Given the description of an element on the screen output the (x, y) to click on. 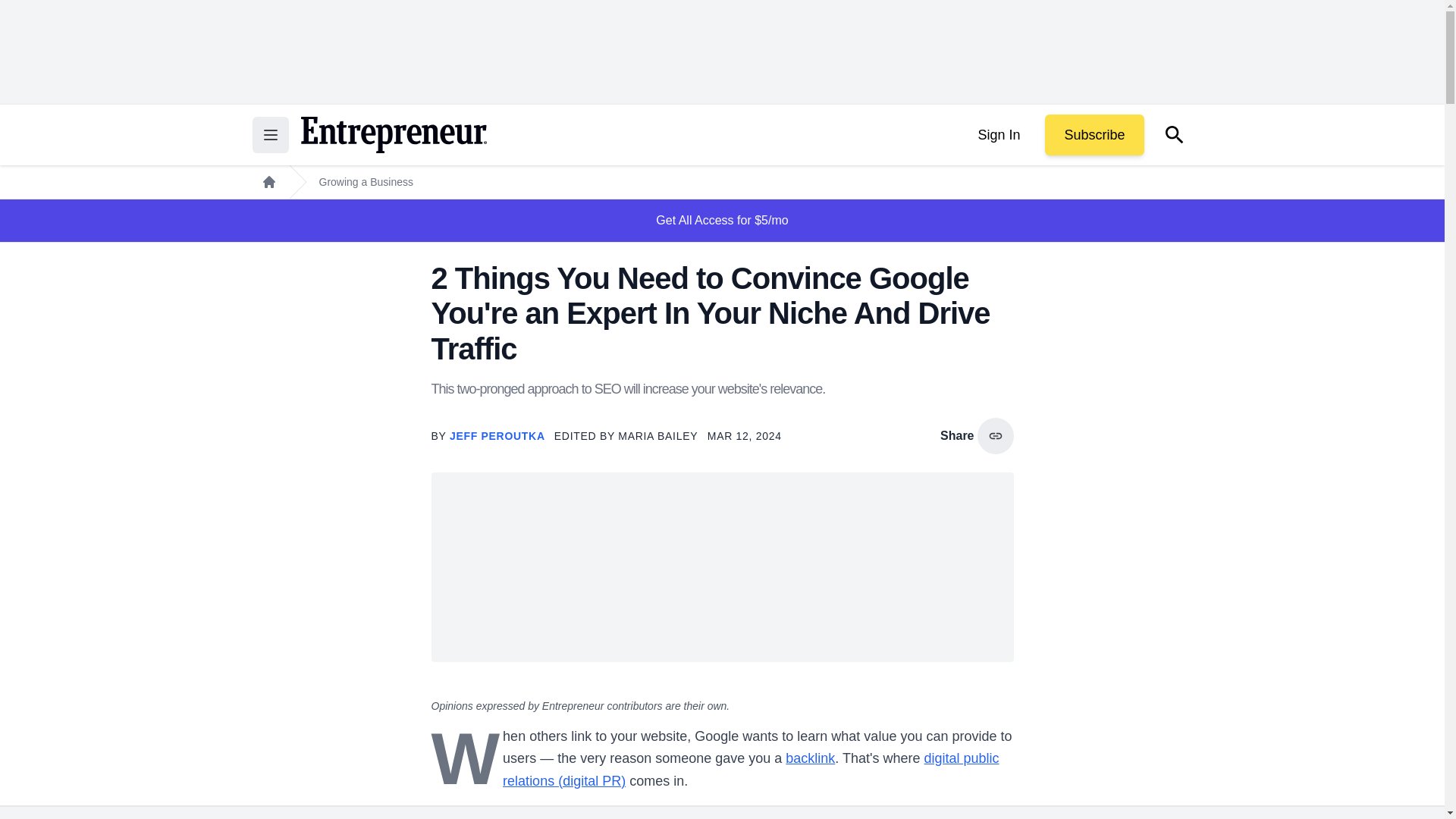
copy (994, 435)
Sign In (998, 134)
Return to the home page (392, 135)
Subscribe (1093, 134)
